Given the description of an element on the screen output the (x, y) to click on. 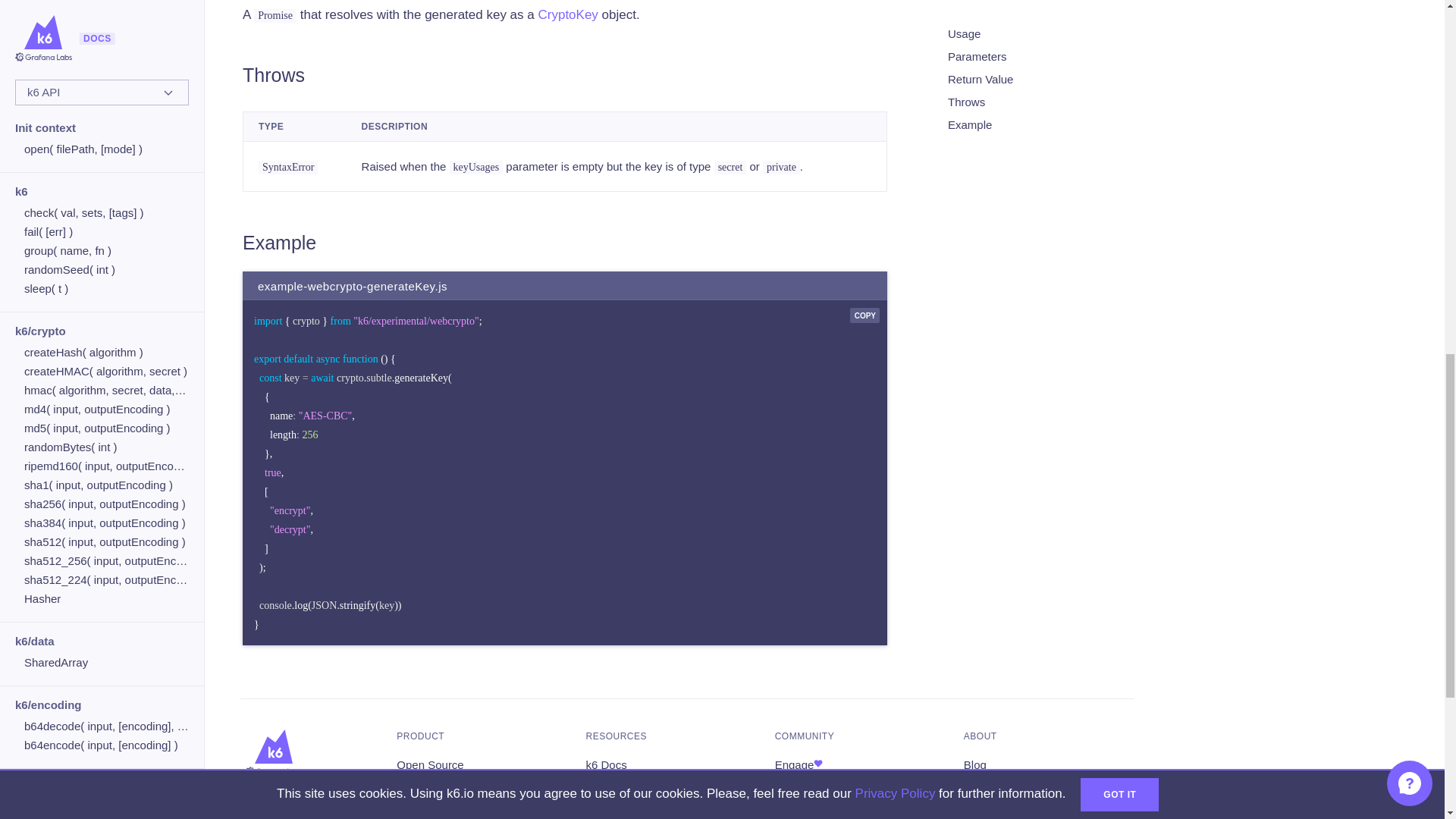
grpc (106, 53)
redis (106, 72)
browser (106, 34)
tracing (106, 110)
timers (106, 91)
